Given the description of an element on the screen output the (x, y) to click on. 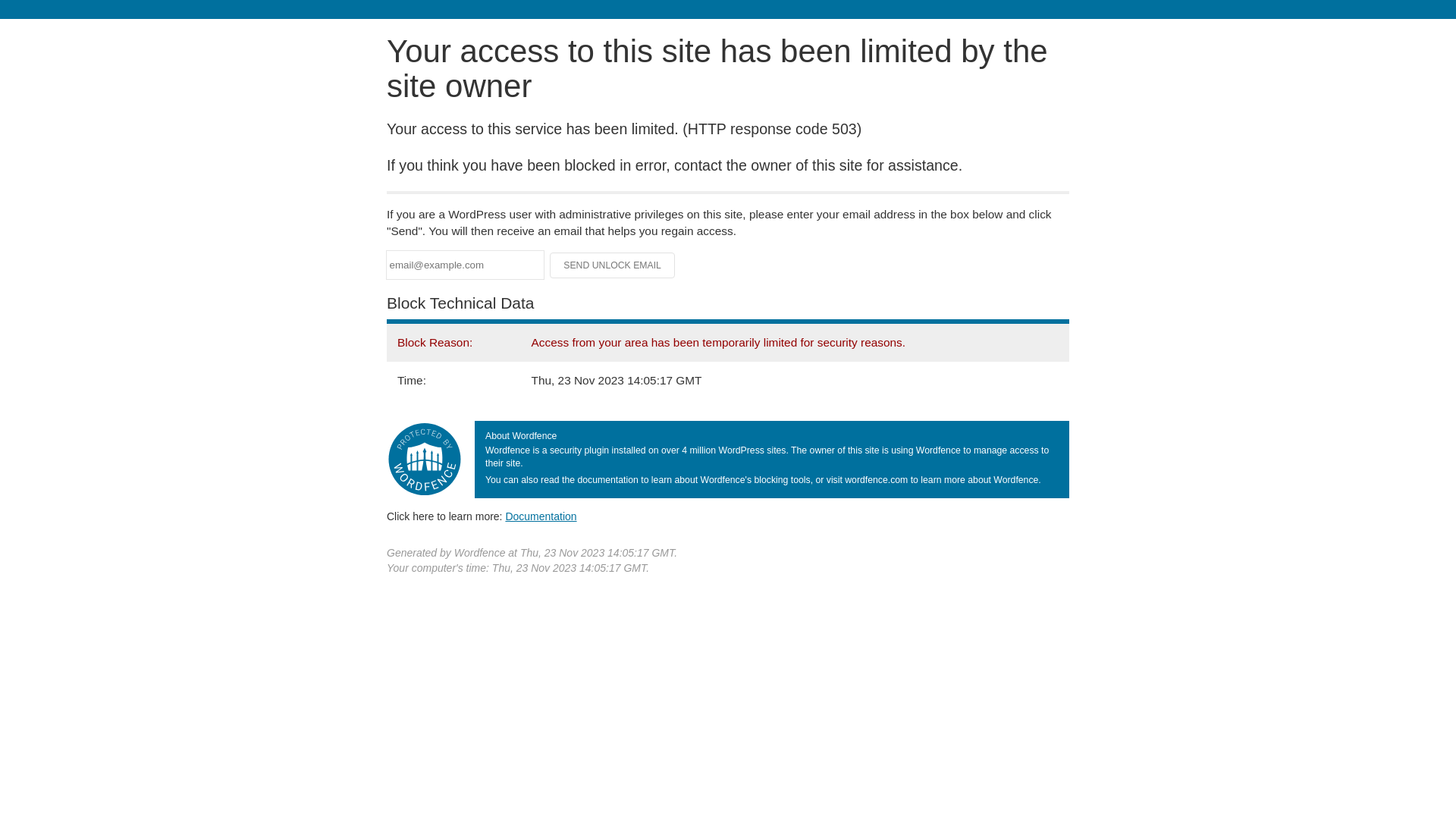
Send Unlock Email Element type: text (612, 265)
Documentation Element type: text (540, 516)
